Given the description of an element on the screen output the (x, y) to click on. 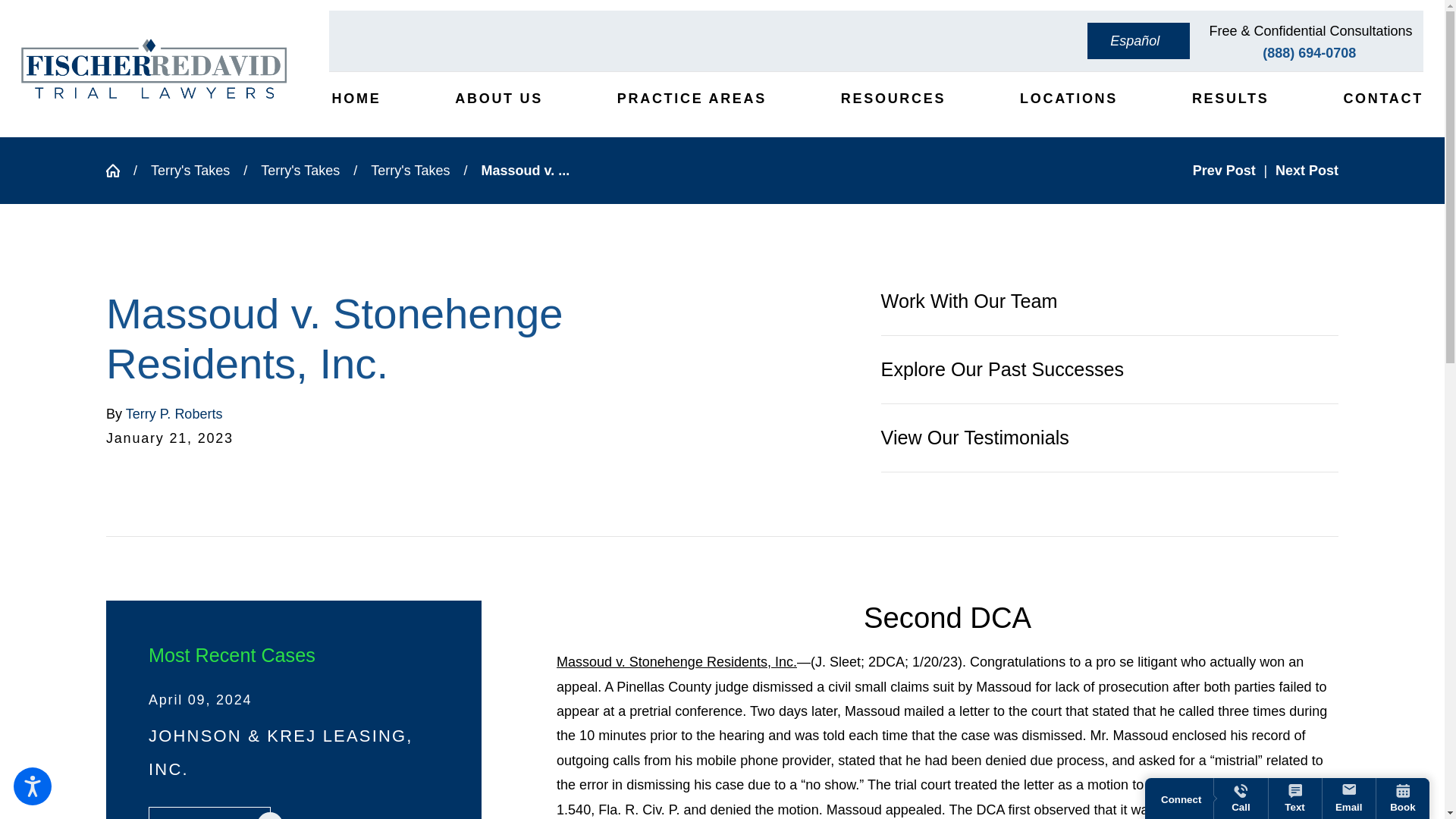
Open the accessibility options menu (31, 786)
HOME (354, 98)
Fischer Redavid PLLC (153, 68)
ABOUT US (497, 98)
RESOURCES (891, 98)
Go Home (119, 170)
LOCATIONS (1067, 98)
PRACTICE AREAS (690, 98)
